Given the description of an element on the screen output the (x, y) to click on. 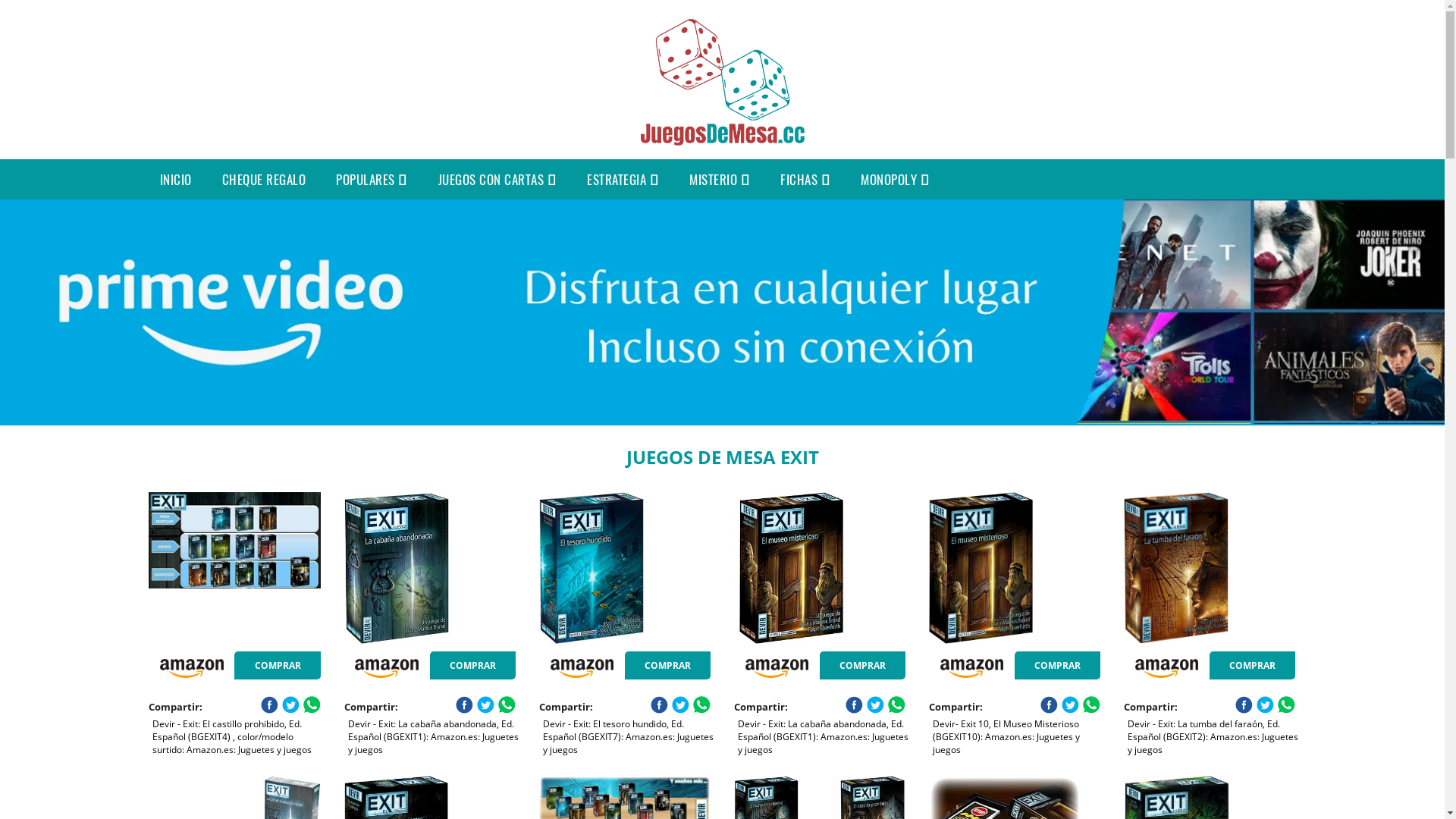
COMPRAR Element type: text (472, 665)
Inicio Element type: hover (721, 139)
COMPRAR Element type: text (1057, 665)
MISTERIO Element type: text (719, 179)
JUEGOS CON CARTAS Element type: text (497, 179)
POPULARES Element type: text (371, 179)
COMPRAR Element type: text (667, 665)
INICIO Element type: text (175, 179)
COMPRAR Element type: text (1252, 665)
MONOPOLY Element type: text (894, 179)
Prime Video Element type: hover (722, 312)
COMPRAR Element type: text (277, 665)
ESTRATEGIA Element type: text (622, 179)
COMPRAR Element type: text (862, 665)
CHEQUE REGALO Element type: text (263, 179)
FICHAS Element type: text (805, 179)
